Given the description of an element on the screen output the (x, y) to click on. 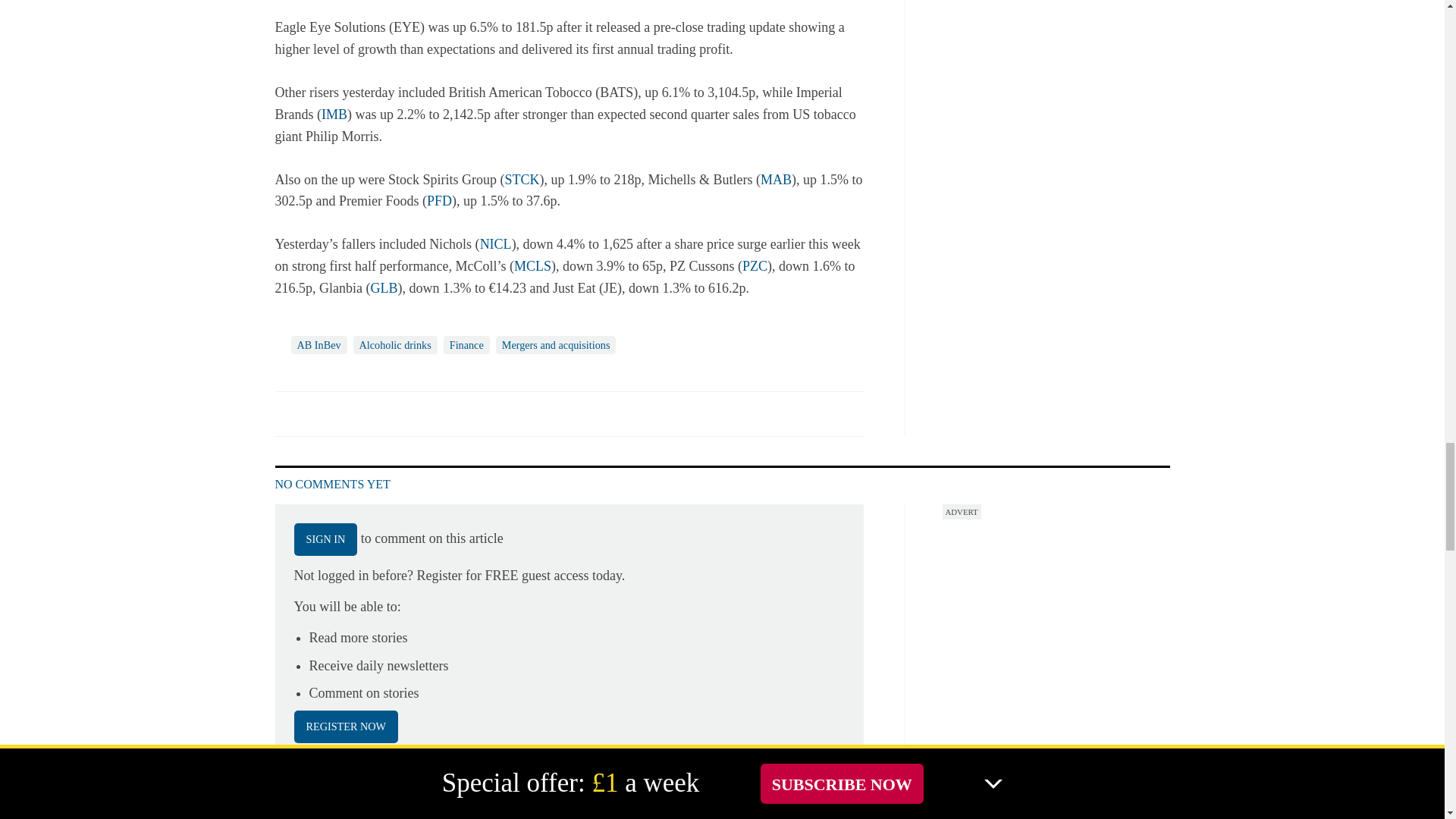
Email this article (386, 412)
Share this on Linked in (352, 412)
No comments (840, 421)
Share this on Facebook (288, 412)
Share this on Twitter (320, 412)
